Given the description of an element on the screen output the (x, y) to click on. 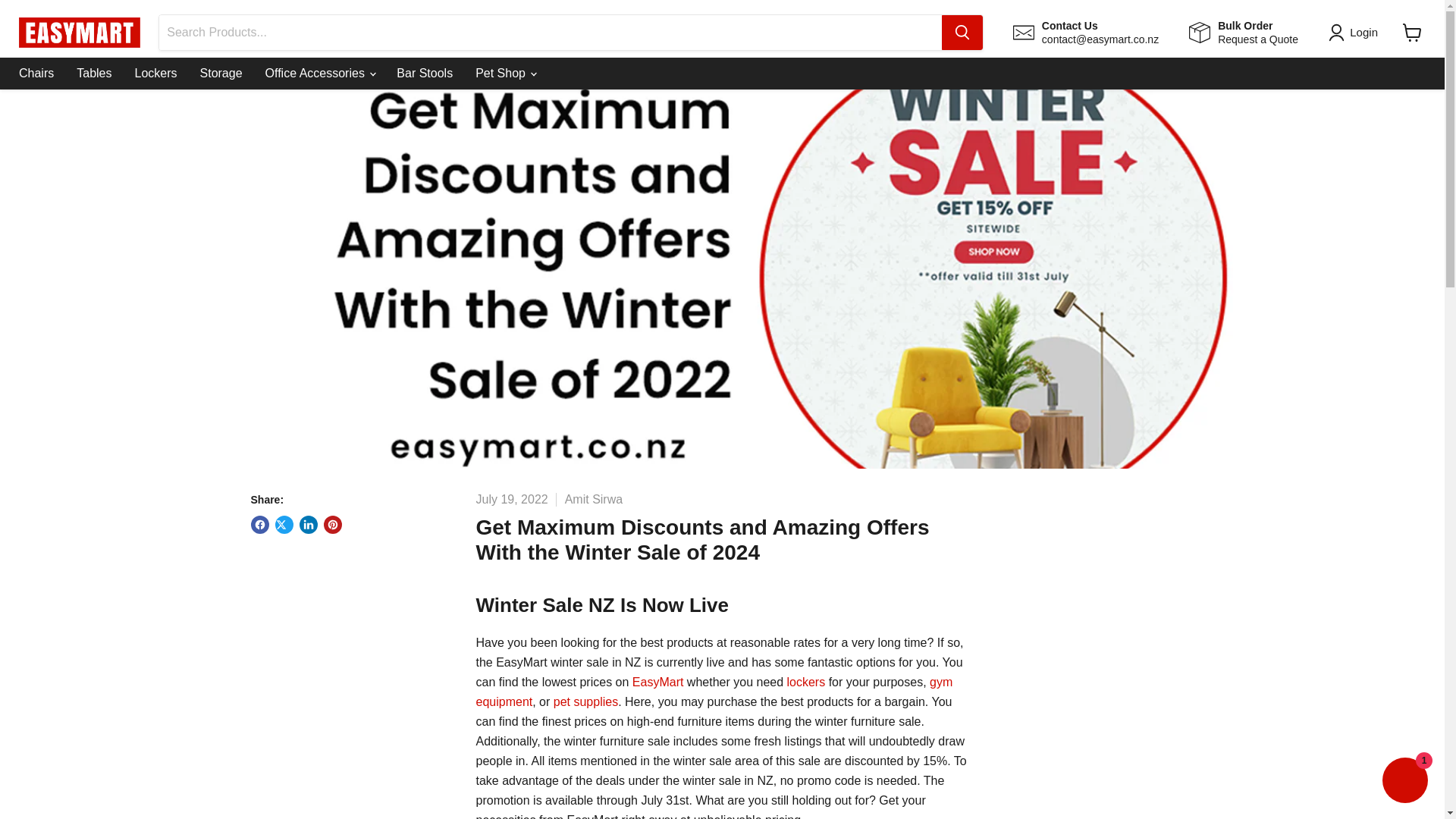
Chairs (36, 73)
Login (1355, 32)
Tables (93, 73)
View cart (1411, 32)
Gym Equipment (1243, 31)
Pet Supplies (714, 691)
Storage (585, 701)
EasyMart (221, 73)
Bar Stools (657, 681)
Lockers (424, 73)
Lockers (806, 681)
